Given the description of an element on the screen output the (x, y) to click on. 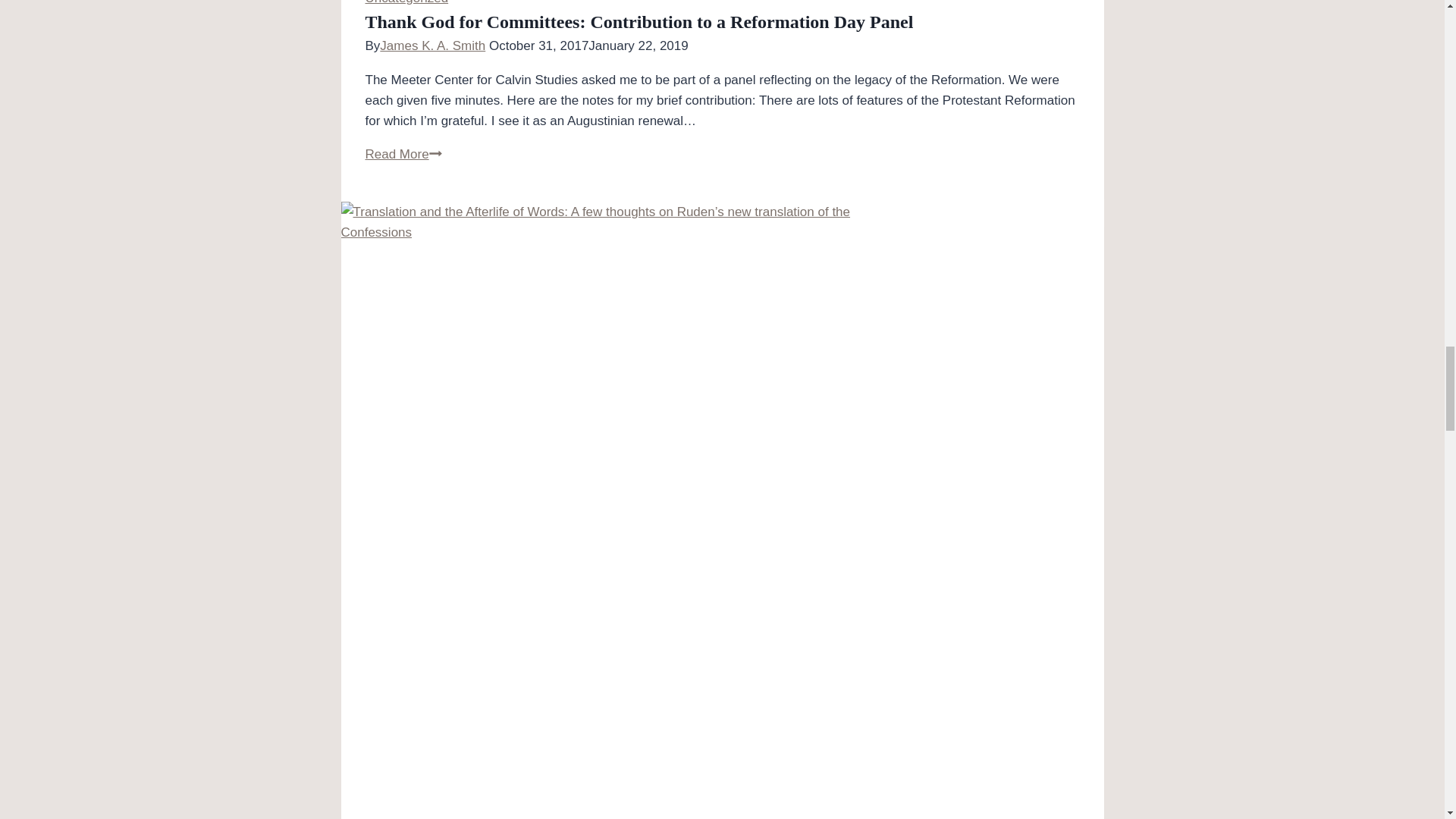
James K. A. Smith (432, 45)
Uncategorized (406, 2)
